Given the description of an element on the screen output the (x, y) to click on. 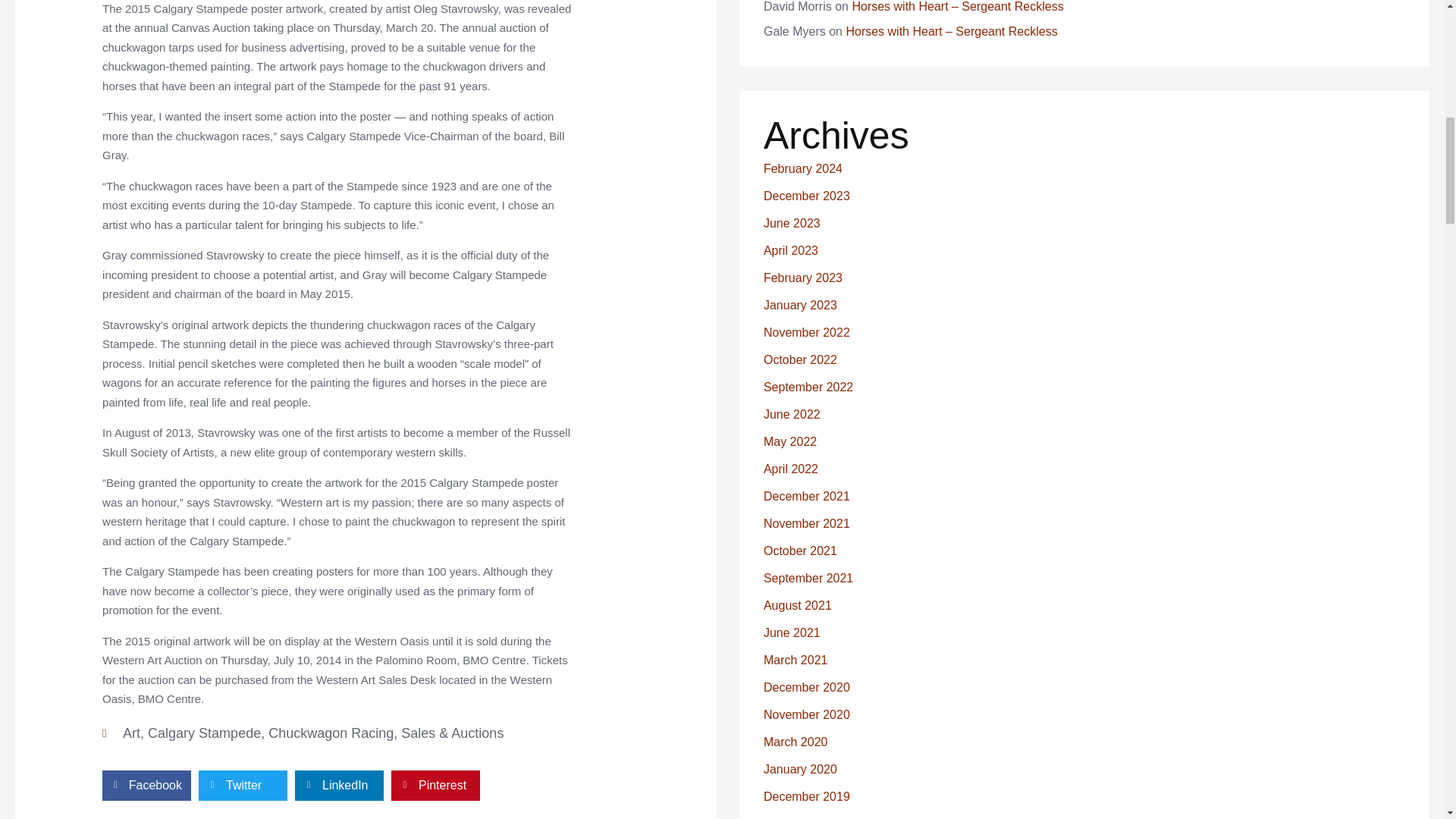
Calgary Stampede (204, 733)
Chuckwagon Racing (330, 733)
Art (130, 733)
